Given the description of an element on the screen output the (x, y) to click on. 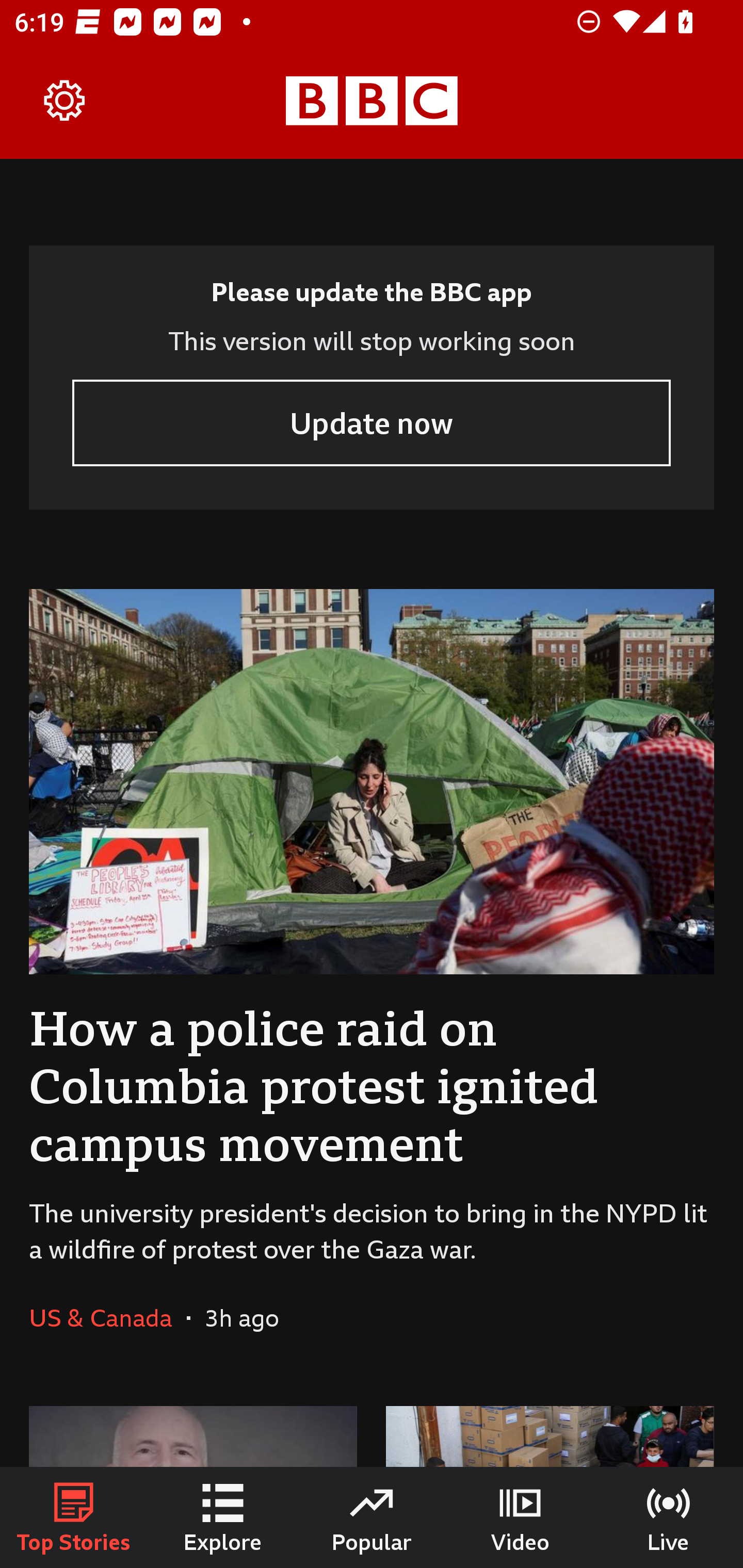
Settings (64, 100)
Update now (371, 422)
US & Canada In the section US & Canada (107, 1317)
Explore (222, 1517)
Popular (371, 1517)
Video (519, 1517)
Live (668, 1517)
